Given the description of an element on the screen output the (x, y) to click on. 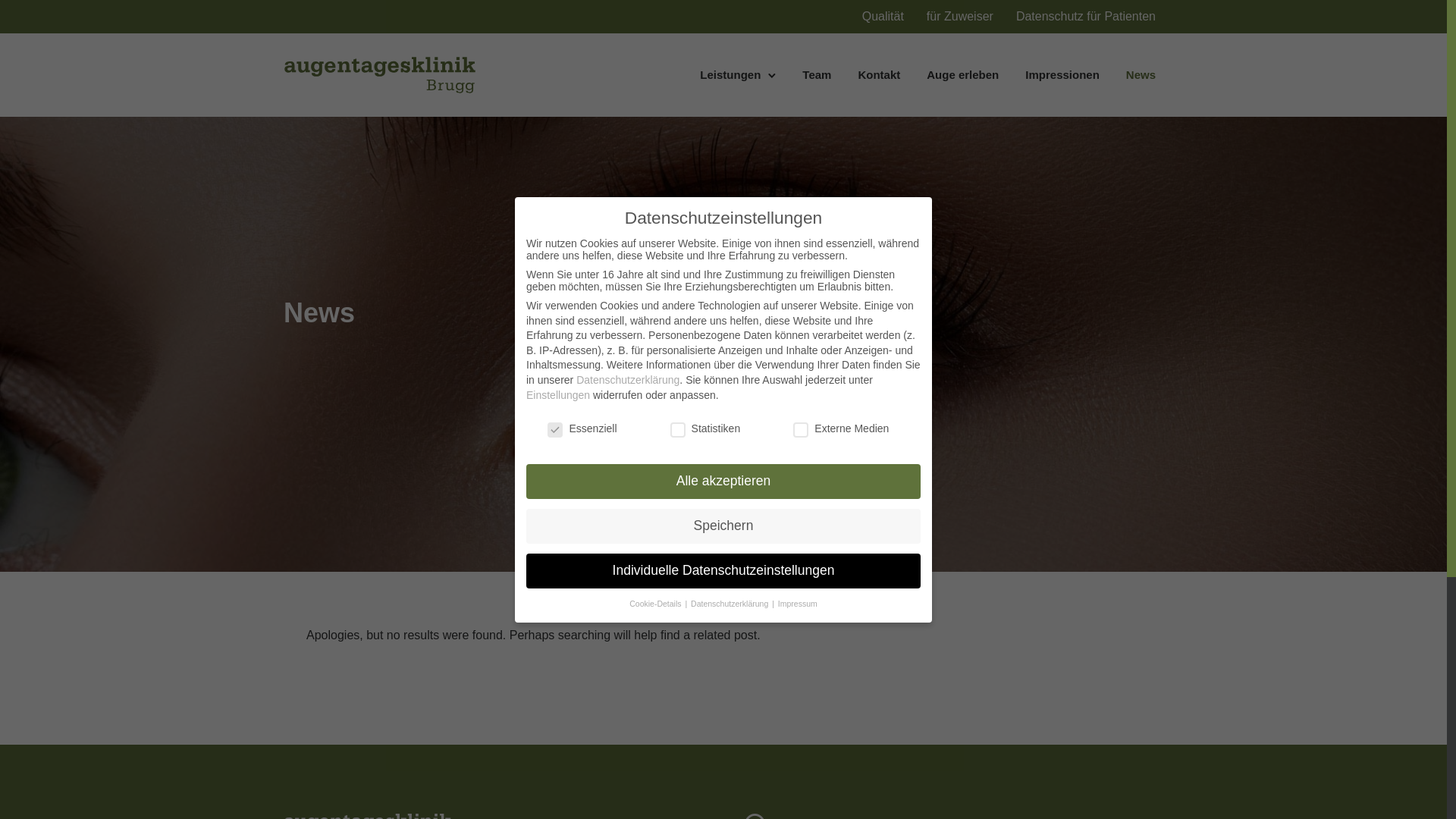
Impressum Element type: text (797, 603)
Impressionen Element type: text (1062, 74)
Speichern Element type: text (723, 525)
Auge erleben Element type: text (962, 74)
Alle akzeptieren Element type: text (723, 481)
Individuelle Datenschutzeinstellungen Element type: text (723, 570)
Kontakt Element type: text (878, 74)
News Element type: text (1140, 74)
Einstellungen Element type: text (557, 395)
Leistungen Element type: text (730, 74)
Cookie-Details Element type: text (656, 603)
Team Element type: text (816, 74)
